Given the description of an element on the screen output the (x, y) to click on. 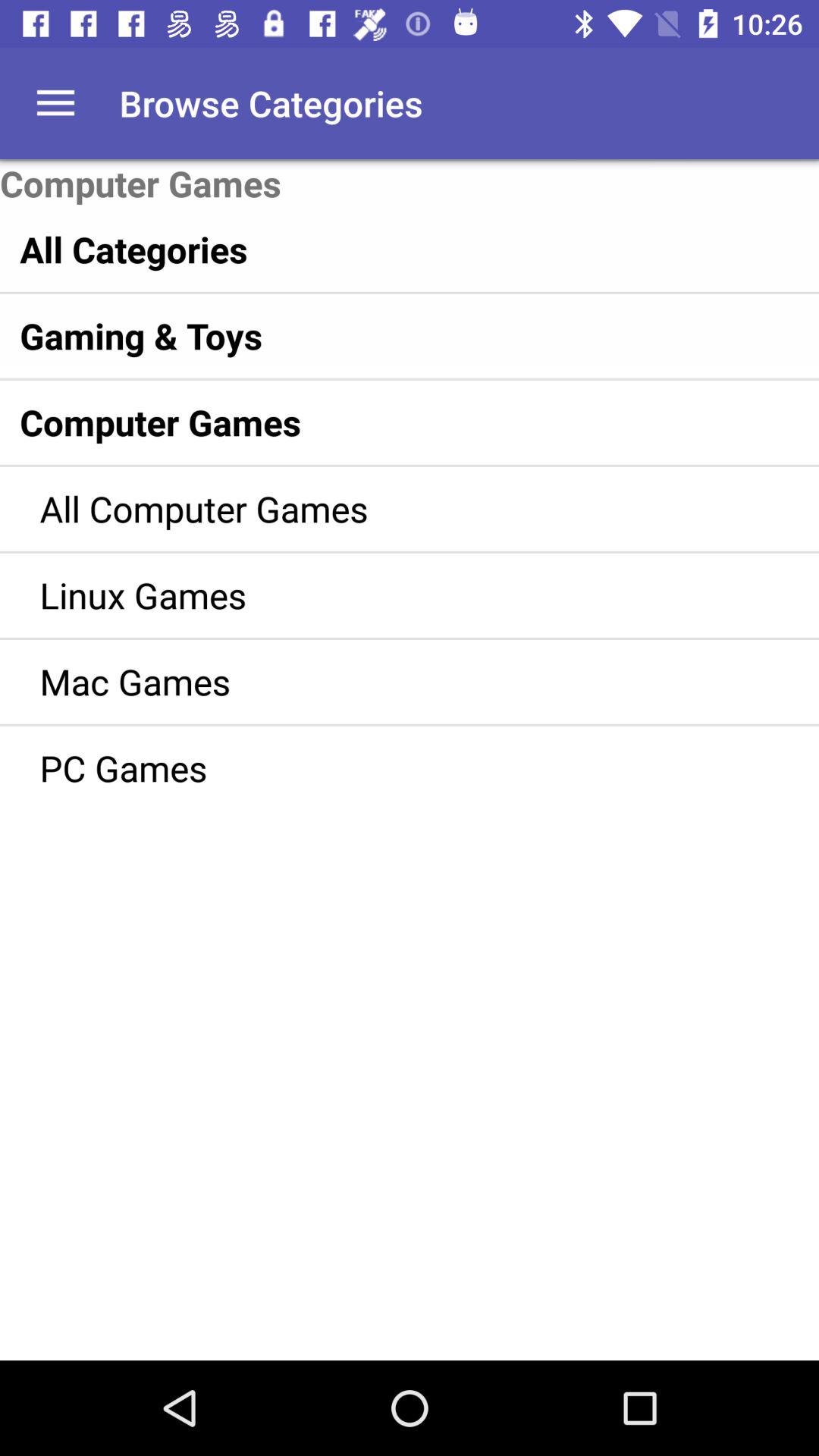
open item below all computer games (387, 595)
